Given the description of an element on the screen output the (x, y) to click on. 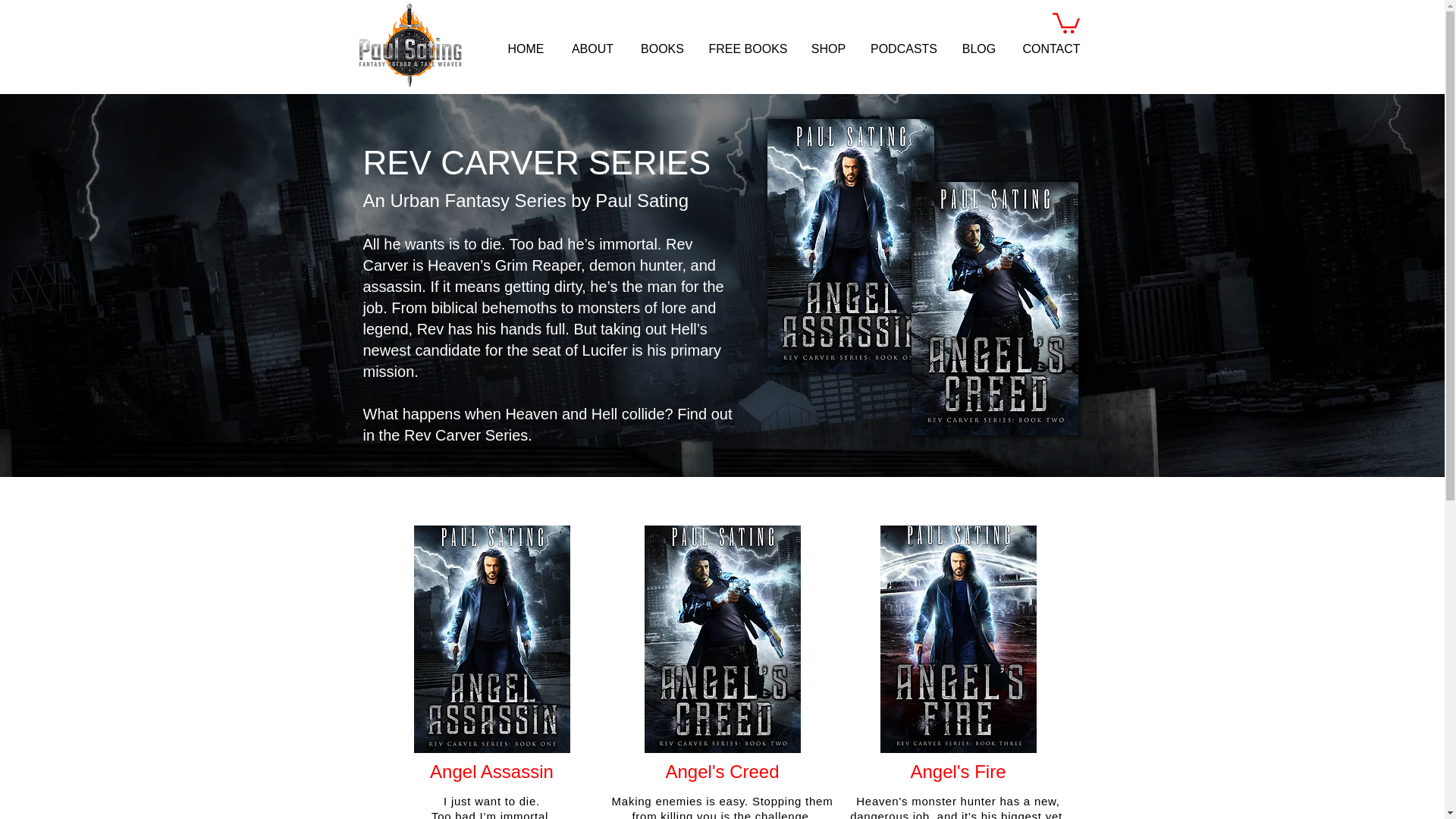
FREE BOOKS (747, 48)
HOME (526, 48)
CONTACT (1051, 48)
ABOUT (592, 48)
SHOP (828, 48)
BLOG (979, 48)
PODCASTS (904, 48)
